Given the description of an element on the screen output the (x, y) to click on. 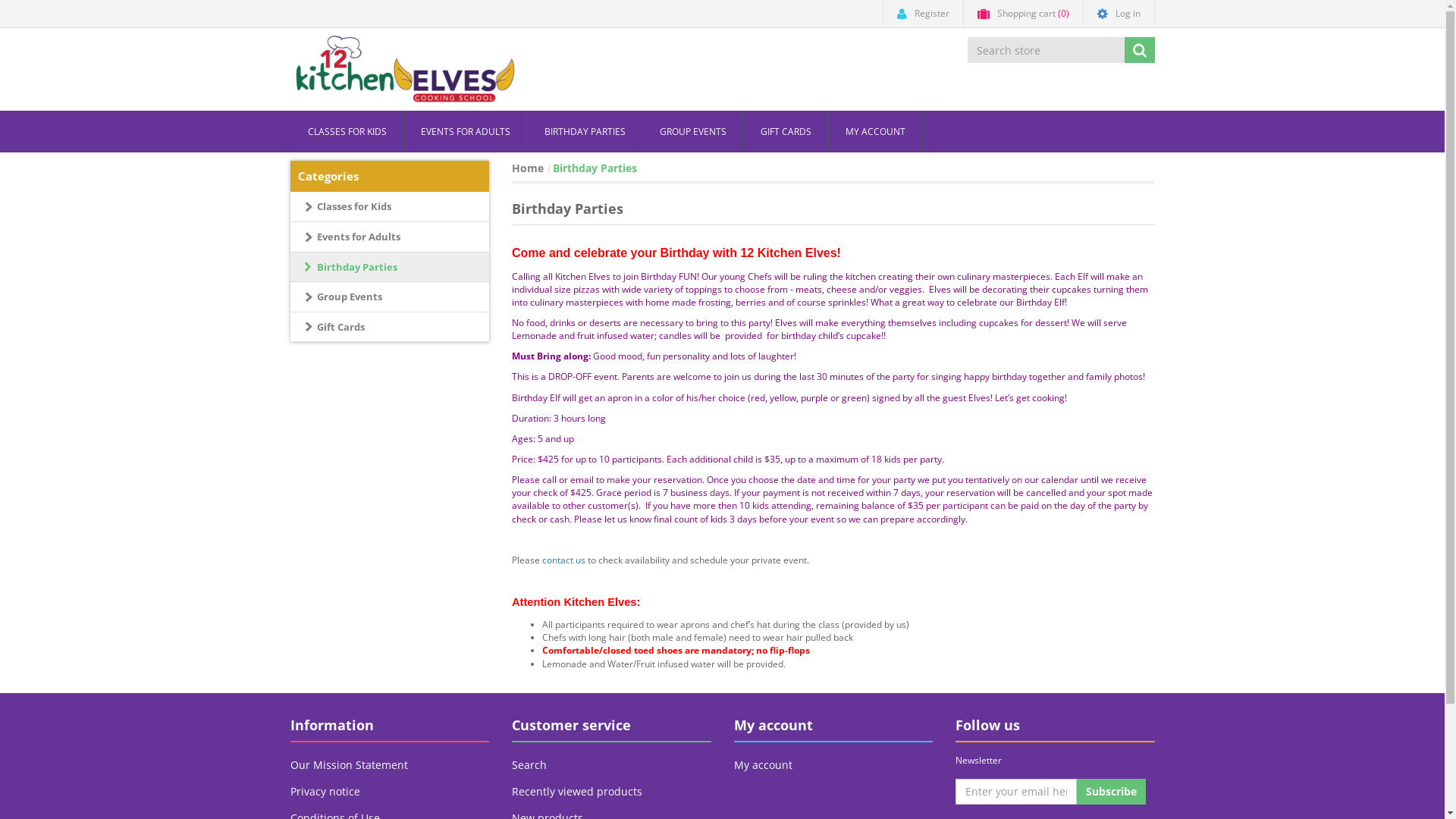
Search Element type: text (611, 764)
Subscribe Element type: text (1110, 791)
Our Mission Statement Element type: text (389, 764)
contact us Element type: text (563, 559)
Recently viewed products Element type: text (611, 791)
Events for Adults Element type: text (389, 237)
GROUP EVENTS Element type: text (693, 131)
Privacy notice Element type: text (389, 791)
Gift Cards Element type: text (389, 327)
EVENTS FOR ADULTS Element type: text (465, 131)
My account Element type: text (833, 764)
Birthday Parties Element type: text (389, 267)
Home Element type: text (527, 167)
MY ACCOUNT Element type: text (875, 131)
Shopping cart (0) Element type: text (1022, 13)
Group Events Element type: text (389, 297)
Classes for Kids Element type: text (389, 206)
CLASSES FOR KIDS Element type: text (346, 131)
Log in Element type: text (1118, 13)
Register Element type: text (922, 13)
GIFT CARDS Element type: text (785, 131)
BIRTHDAY PARTIES Element type: text (585, 131)
